Given the description of an element on the screen output the (x, y) to click on. 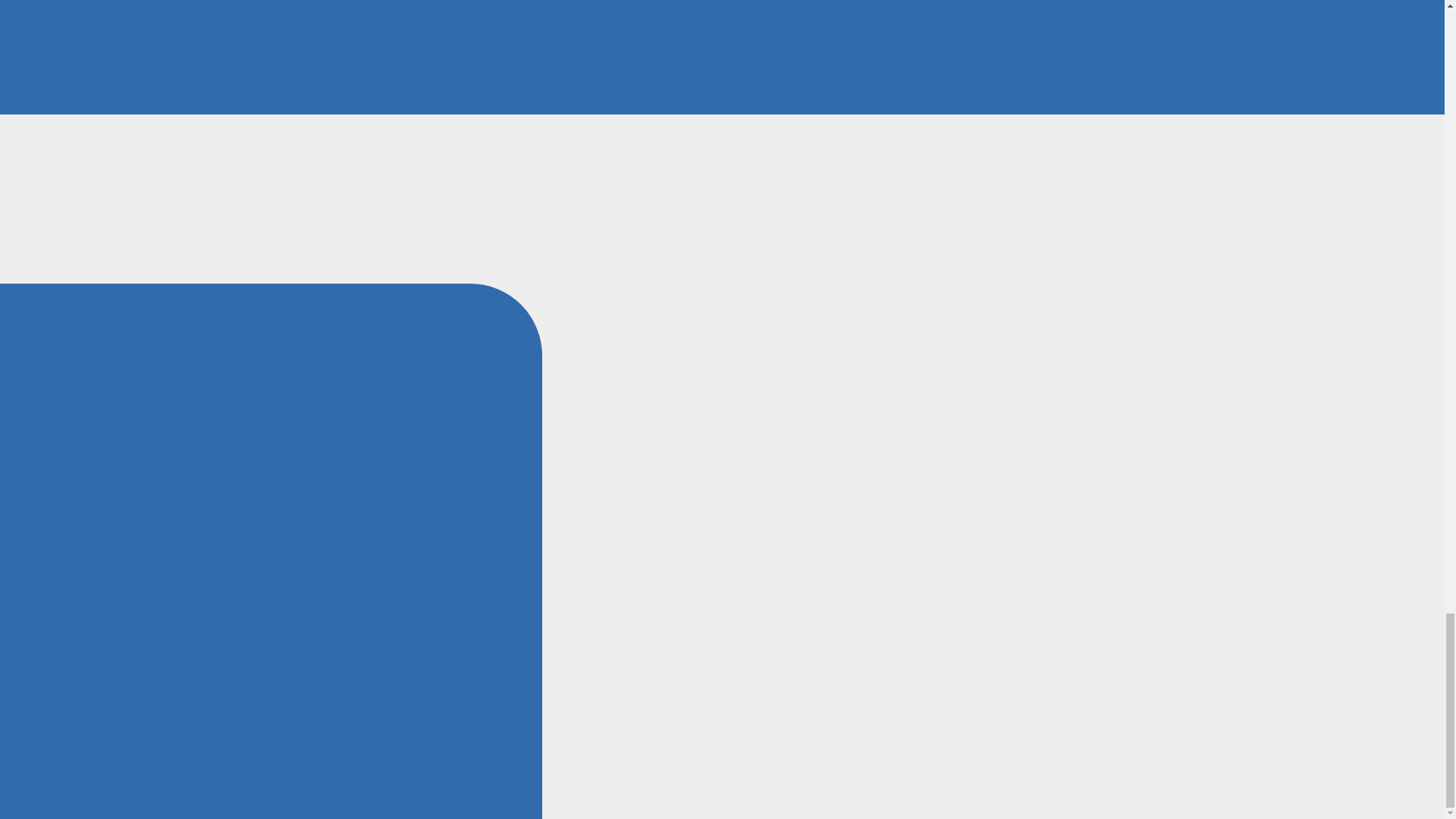
Submit (1146, 89)
